Given the description of an element on the screen output the (x, y) to click on. 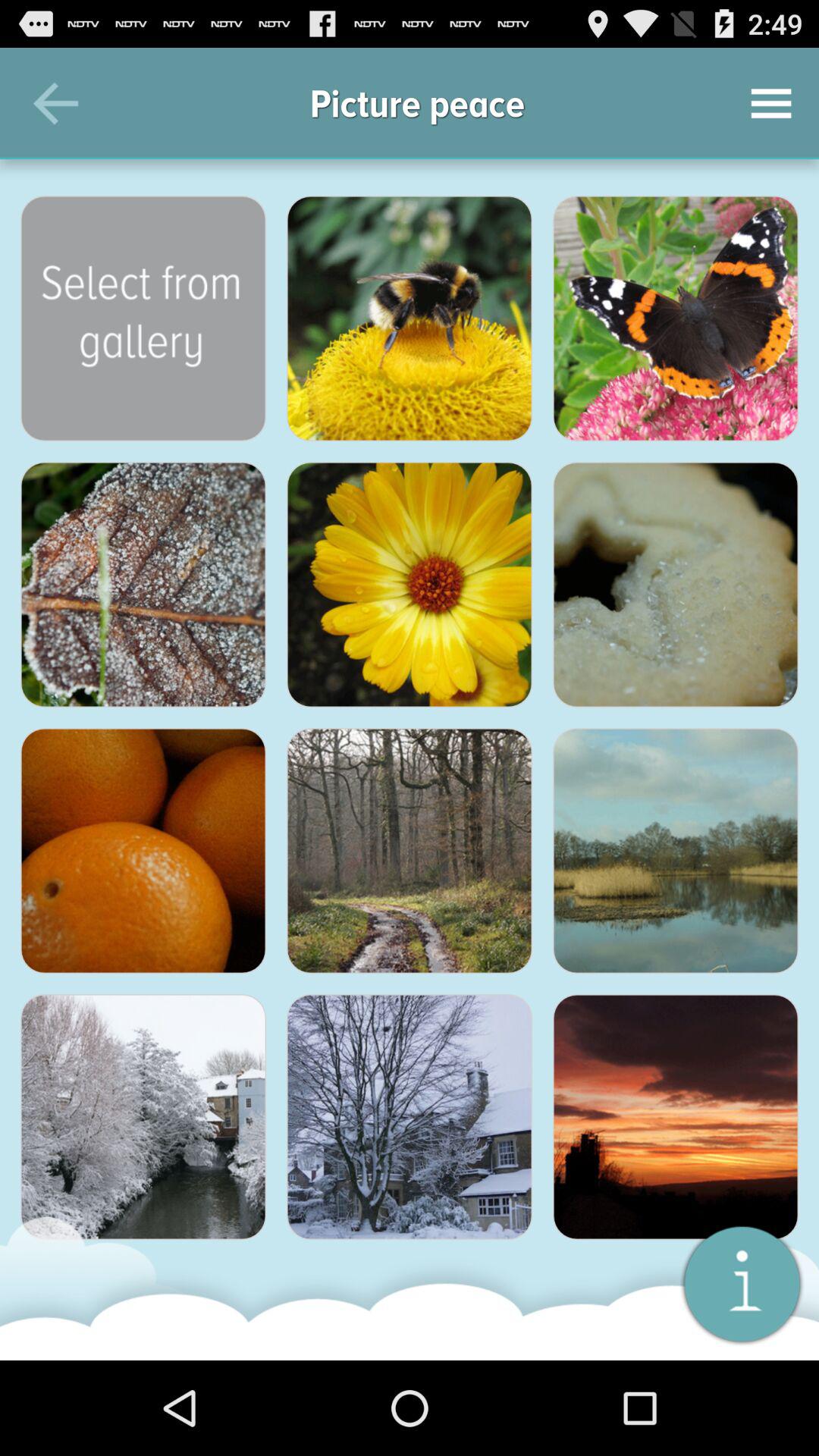
select that photo (143, 850)
